Given the description of an element on the screen output the (x, y) to click on. 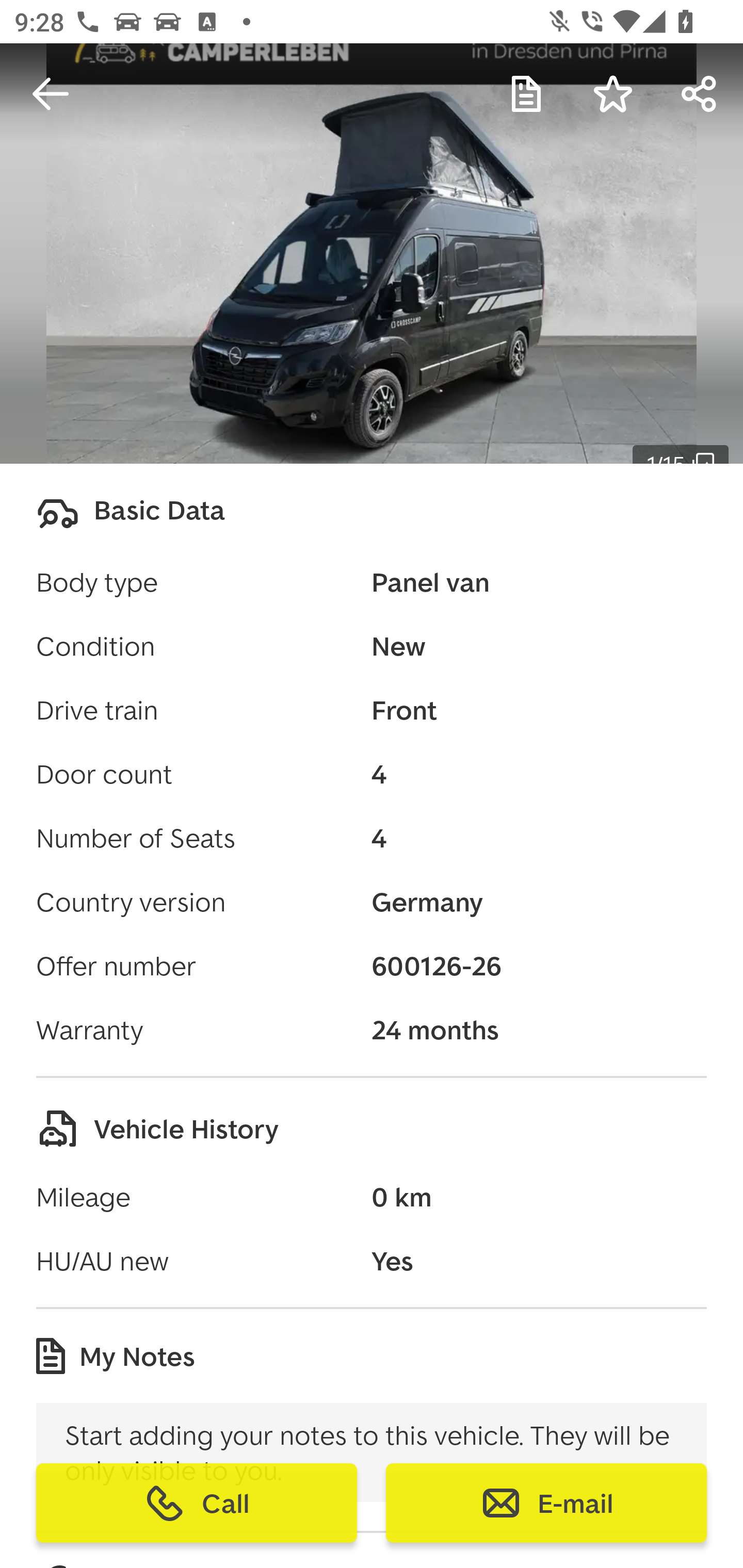
Navigate up (50, 93)
My Notes (525, 93)
Save (612, 93)
Forward (699, 93)
Call (196, 1502)
E-mail (545, 1502)
